Given the description of an element on the screen output the (x, y) to click on. 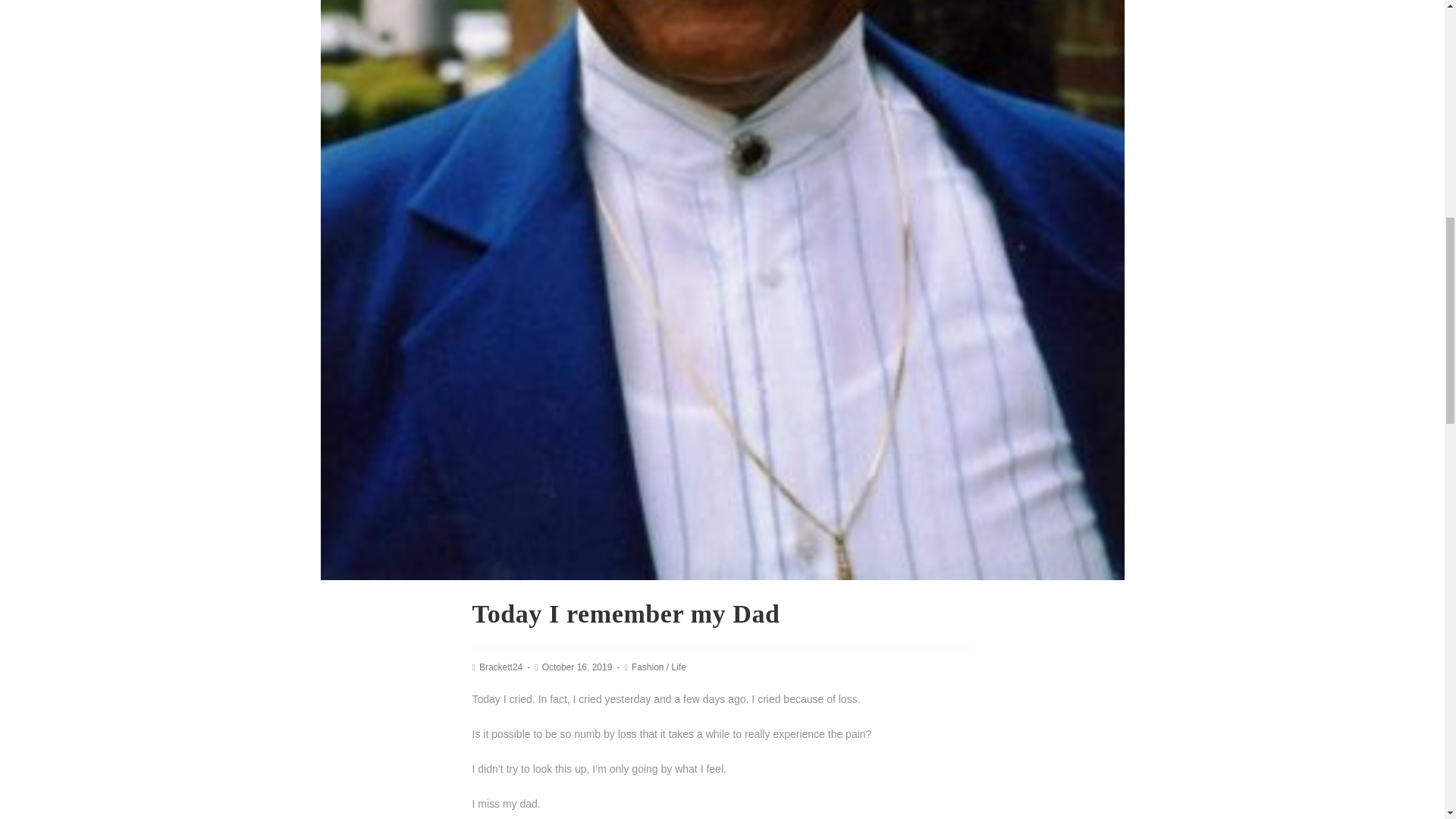
Fashion (647, 666)
Brackett24 (500, 666)
Life (678, 666)
Posts by Brackett24 (500, 666)
